Given the description of an element on the screen output the (x, y) to click on. 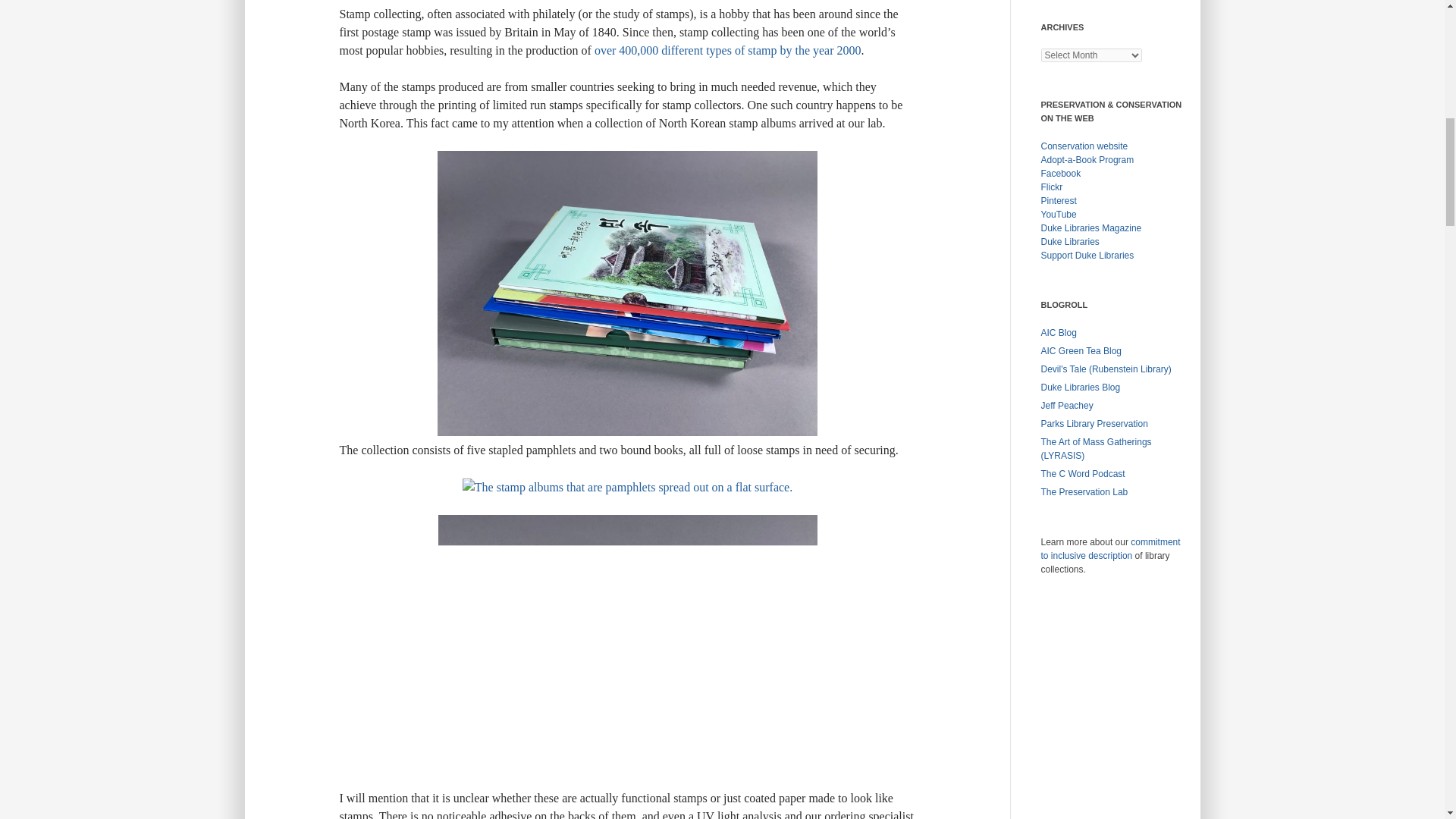
Iowa State University Preservation Department (1094, 423)
over 400,000 different types of stamp by the year 2000 (727, 50)
The blog of the American Institute for Conservation (1058, 332)
The blog of the Duke University Rubenstein Library (1105, 368)
Jeff Peachey is a master bookbinder and toolmaker (1067, 405)
